Given the description of an element on the screen output the (x, y) to click on. 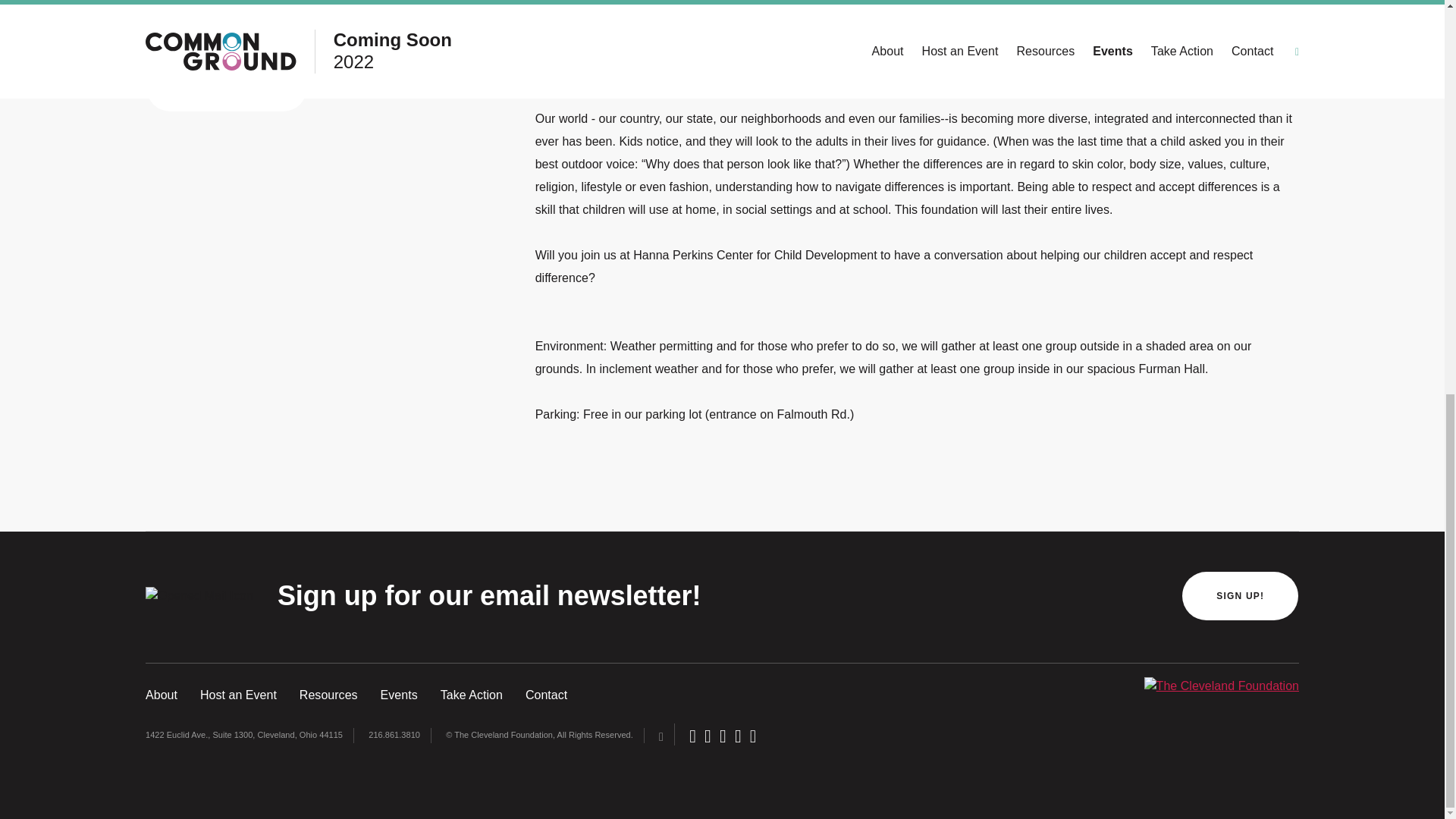
Events (398, 694)
About (161, 694)
Contact (546, 694)
Take Action (471, 694)
Resources (328, 694)
1422 Euclid Ave., Suite 1300, Cleveland, Ohio 44115 (243, 734)
SIGN UP! (1239, 595)
BACK TO EVENTS (226, 87)
Host an Event (238, 694)
